Given the description of an element on the screen output the (x, y) to click on. 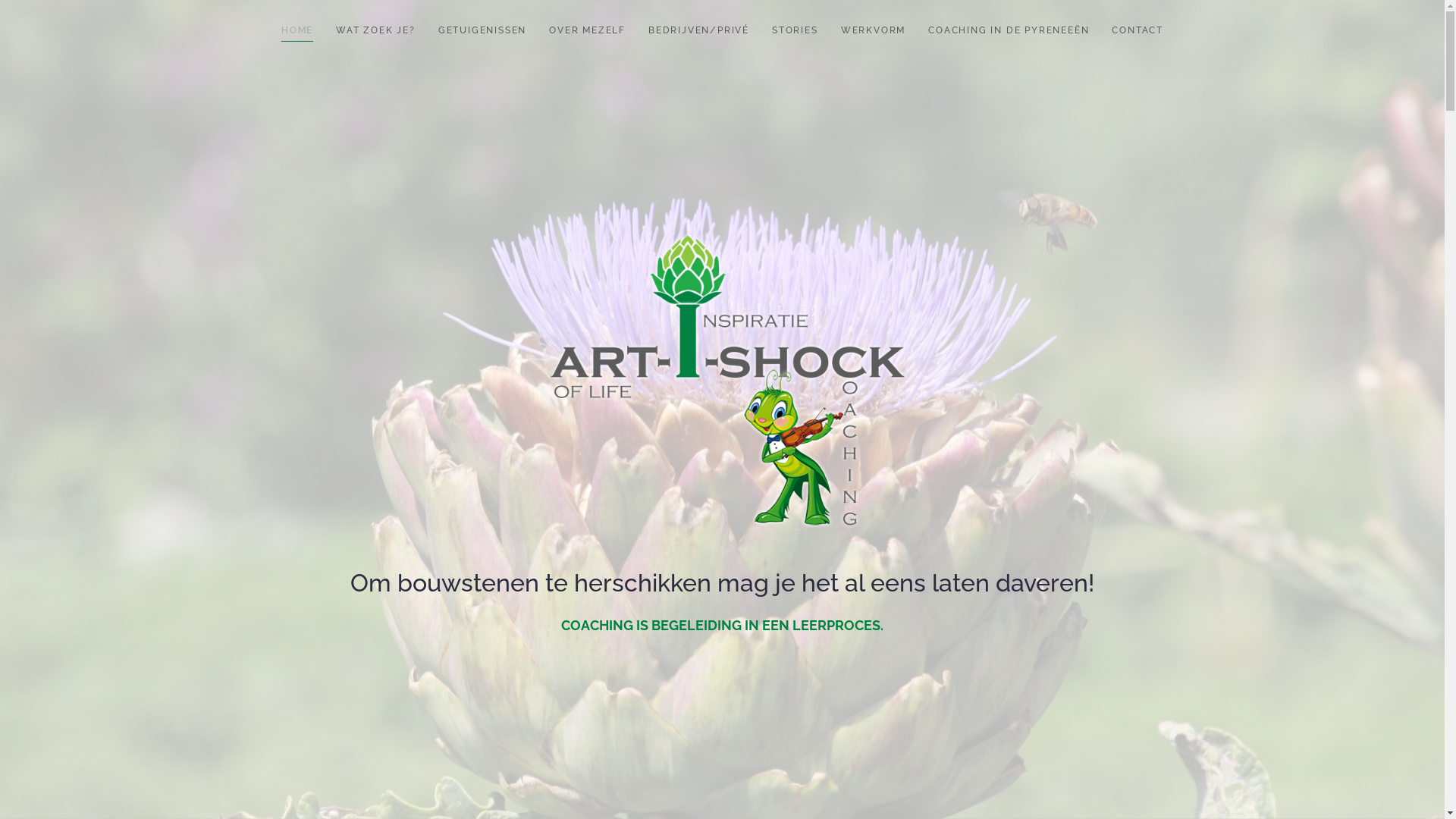
CONTACT Element type: text (1137, 30)
OVER MEZELF Element type: text (587, 30)
WERKVORM Element type: text (872, 30)
GETUIGENISSEN Element type: text (481, 30)
STORIES Element type: text (794, 30)
WAT ZOEK JE? Element type: text (375, 30)
HOME Element type: text (296, 30)
